Given the description of an element on the screen output the (x, y) to click on. 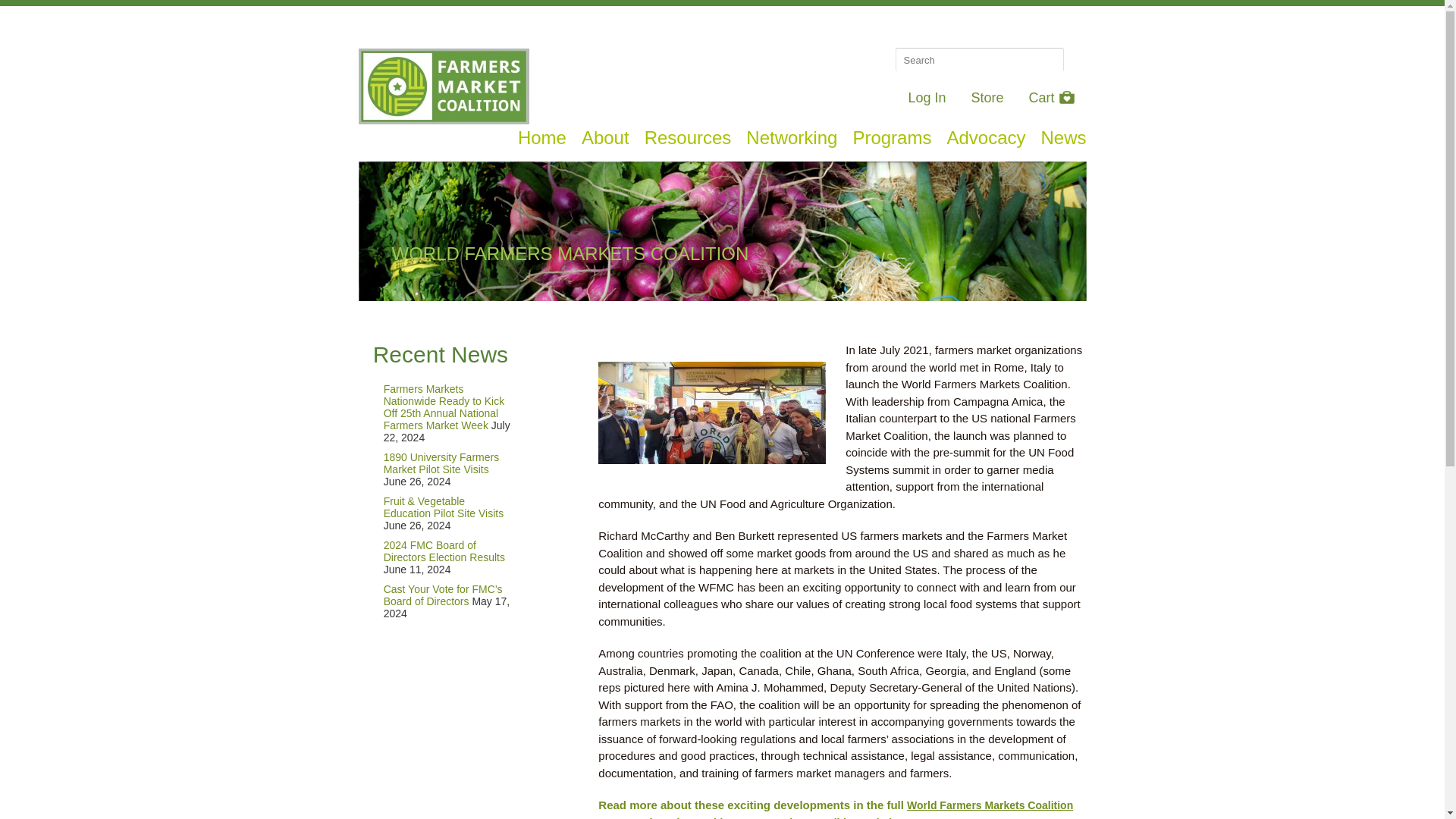
Log In (925, 97)
Advocacy (985, 137)
Get Updates (1029, 19)
Skip to content (385, 132)
Programs (891, 137)
Membership (923, 19)
Store (987, 97)
Networking (791, 137)
Cart (1050, 97)
Search (1074, 58)
Donate (829, 19)
Resources (688, 137)
News (1063, 137)
Skip to content (385, 132)
Search (1074, 58)
